Given the description of an element on the screen output the (x, y) to click on. 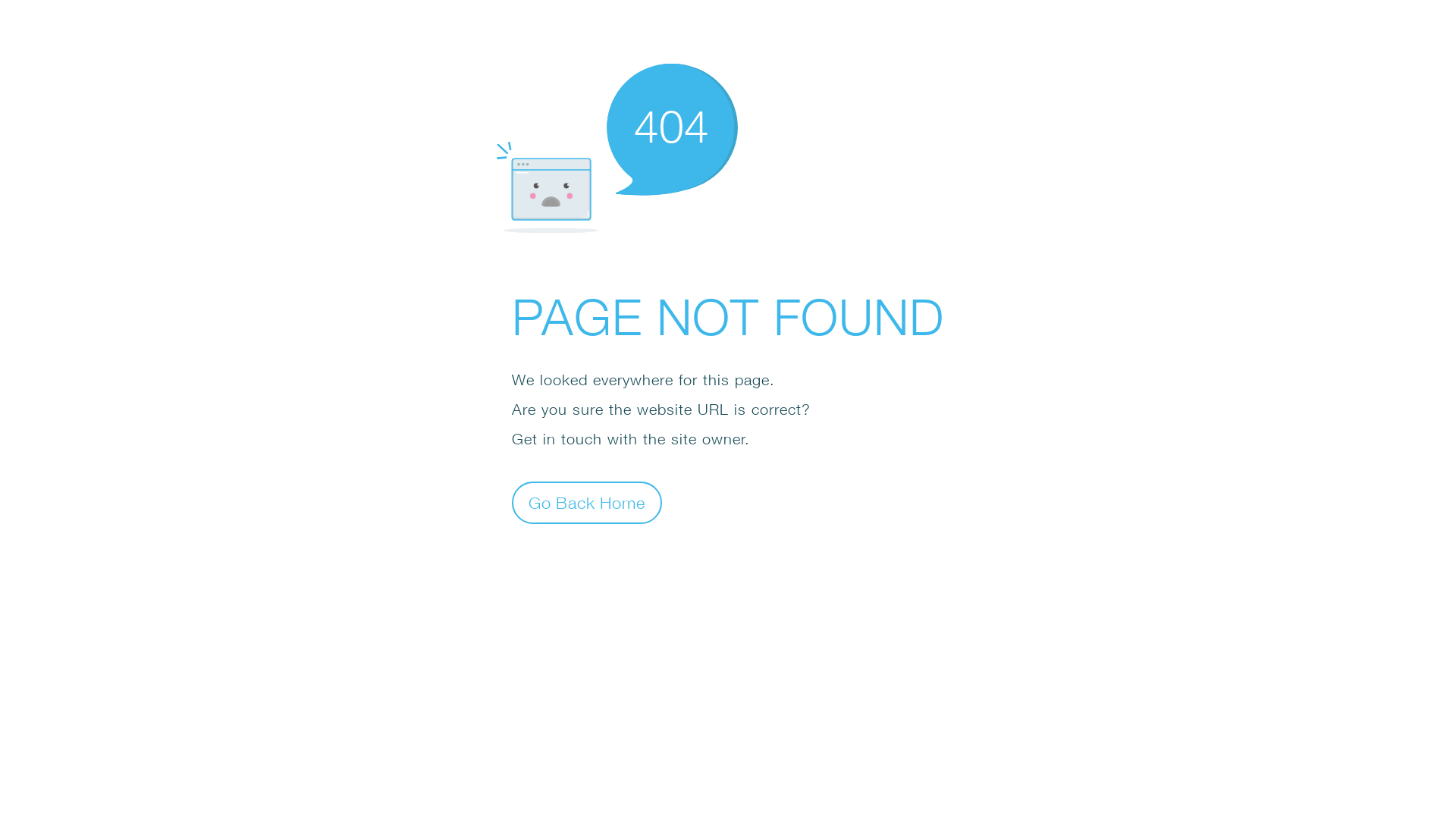
Go Back Home Element type: text (586, 502)
